Given the description of an element on the screen output the (x, y) to click on. 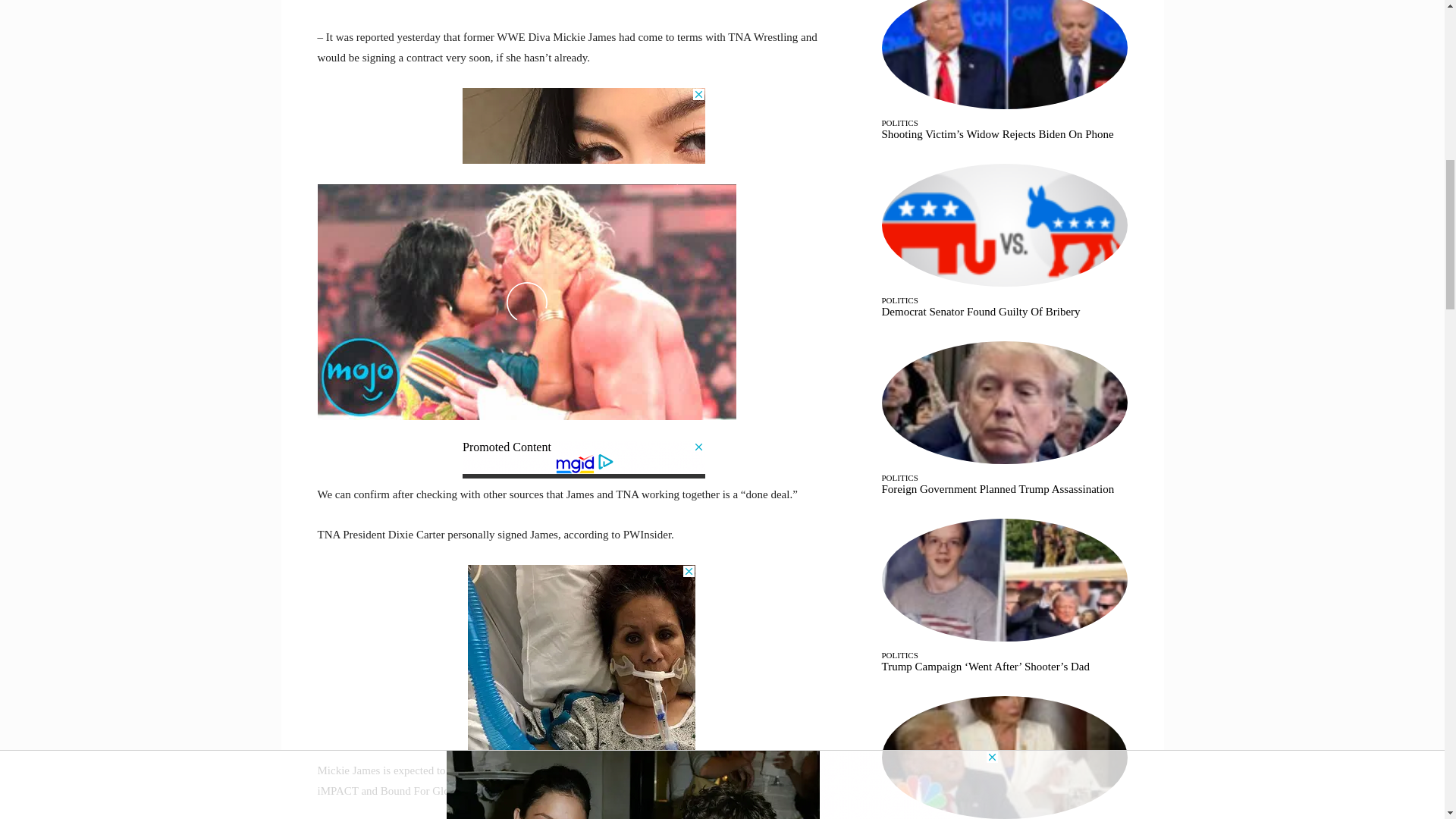
3rd party ad content (583, 459)
3rd party ad content (580, 659)
3rd party ad content (583, 125)
